Given the description of an element on the screen output the (x, y) to click on. 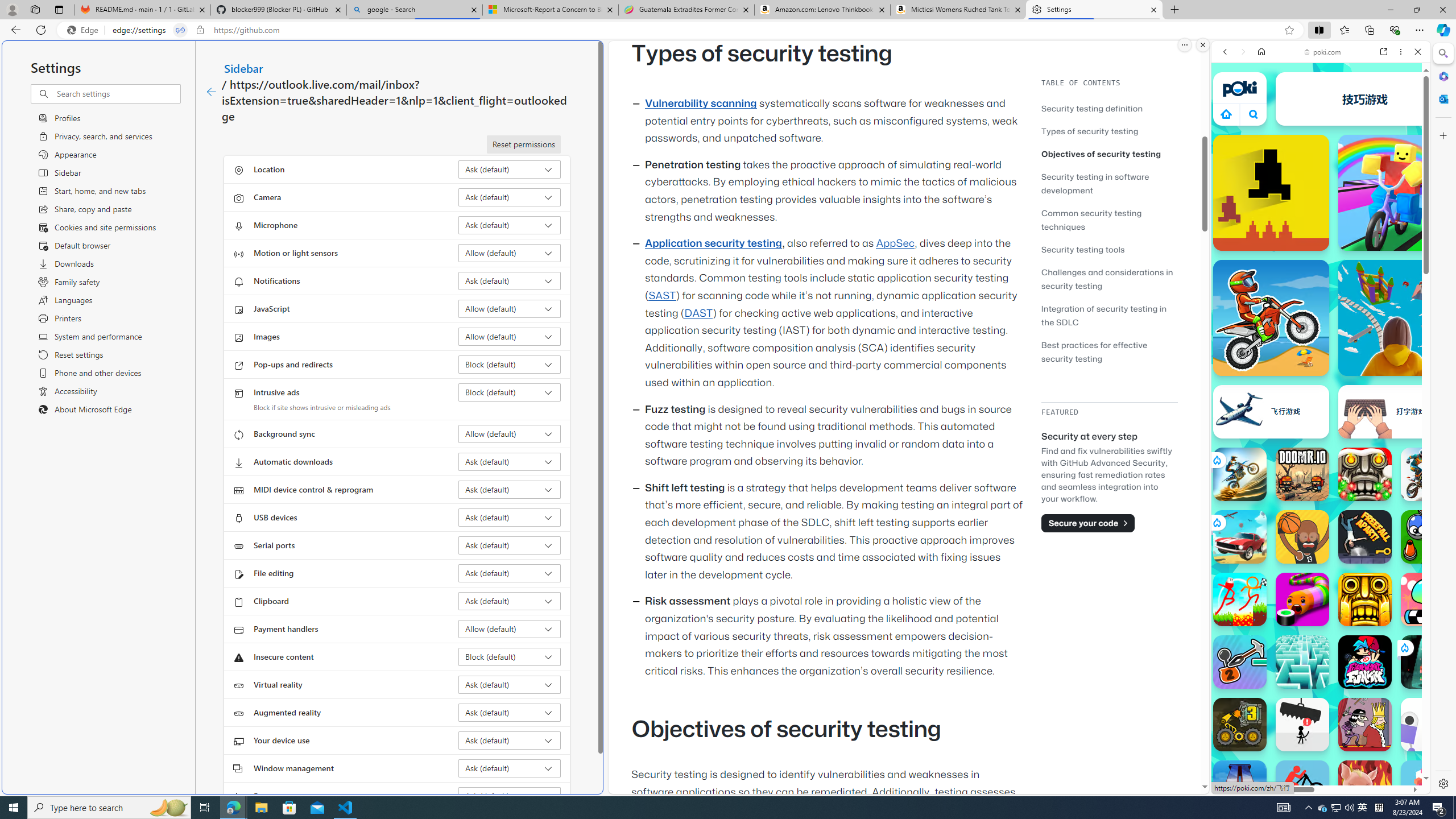
Level Devil (1270, 192)
Doomr.io Doomr.io (1302, 474)
Io Games (1320, 350)
SimplyUp.io (1396, 317)
Class: B_5ykBA46kDOxiz_R9wm (1253, 113)
Poki (1315, 754)
Click to scroll right (1407, 549)
Common security testing techniques (1091, 219)
Temple Run 2: Frozen Festival Temple Run 2: Frozen Festival (1364, 474)
